Given the description of an element on the screen output the (x, y) to click on. 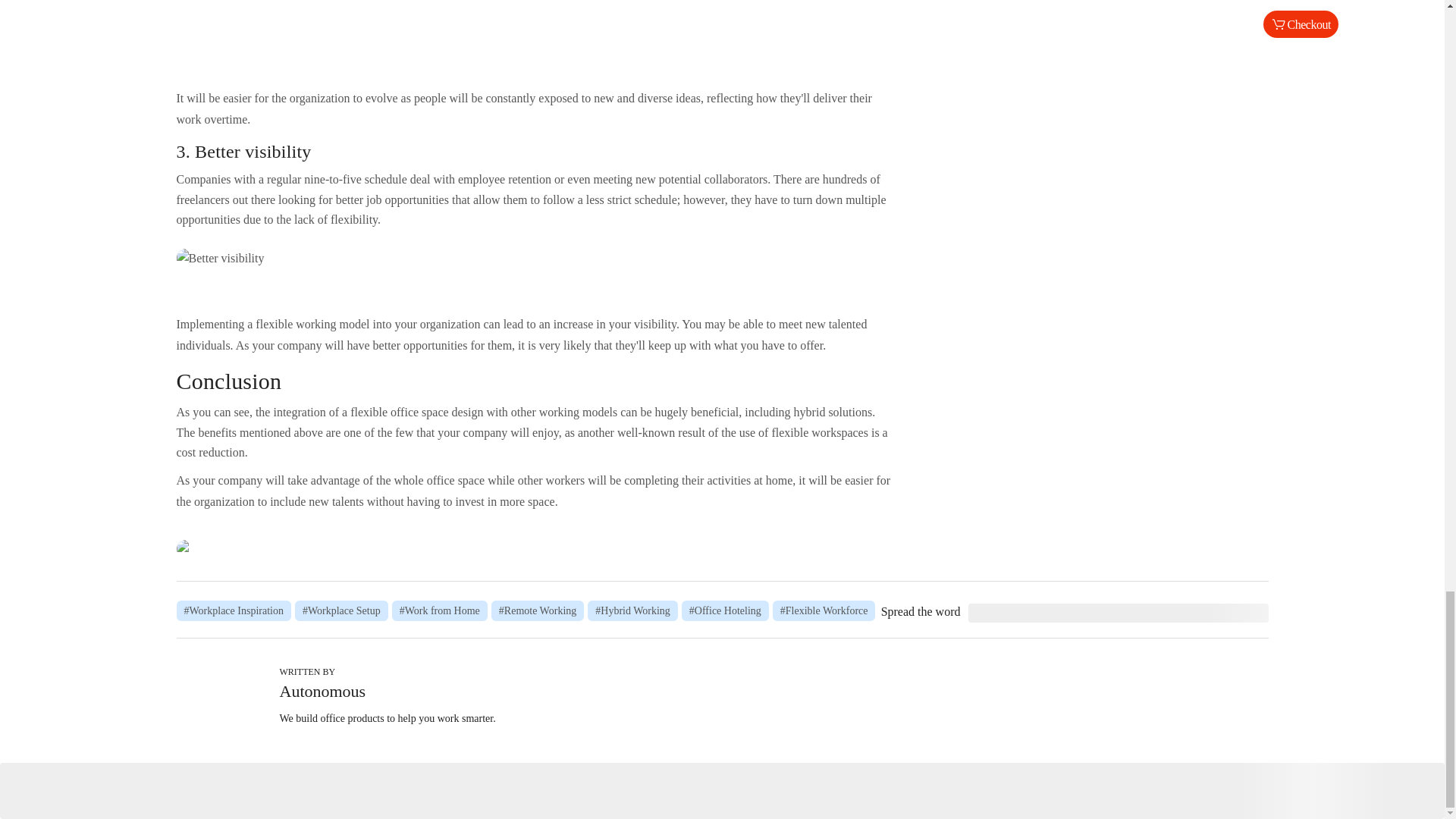
Autonomous Chair Ultra - First 3D-Printed Chair (536, 547)
